Given the description of an element on the screen output the (x, y) to click on. 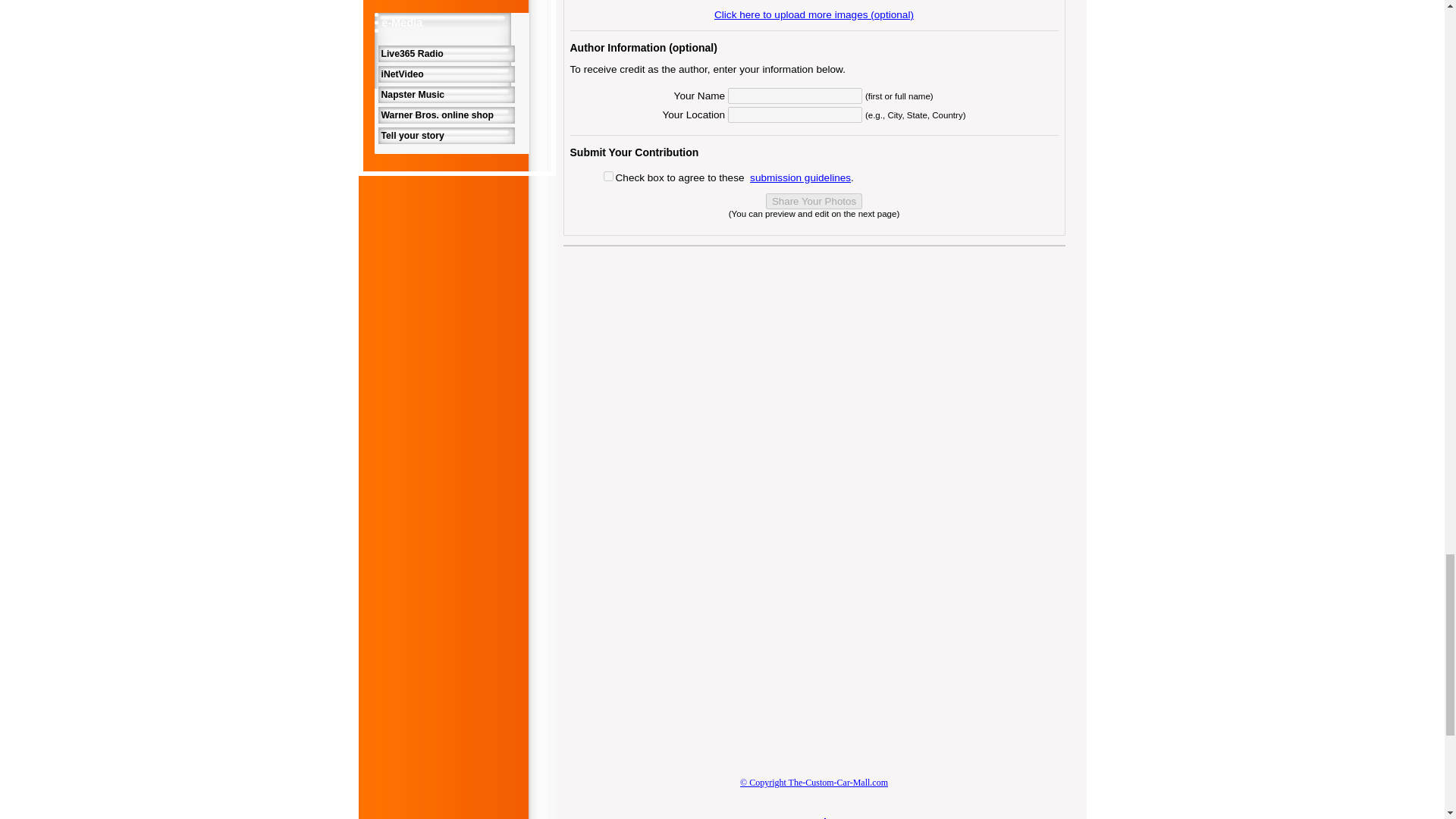
checkbox (608, 175)
Advertisement (689, 630)
Share Your Photos (813, 201)
